Given the description of an element on the screen output the (x, y) to click on. 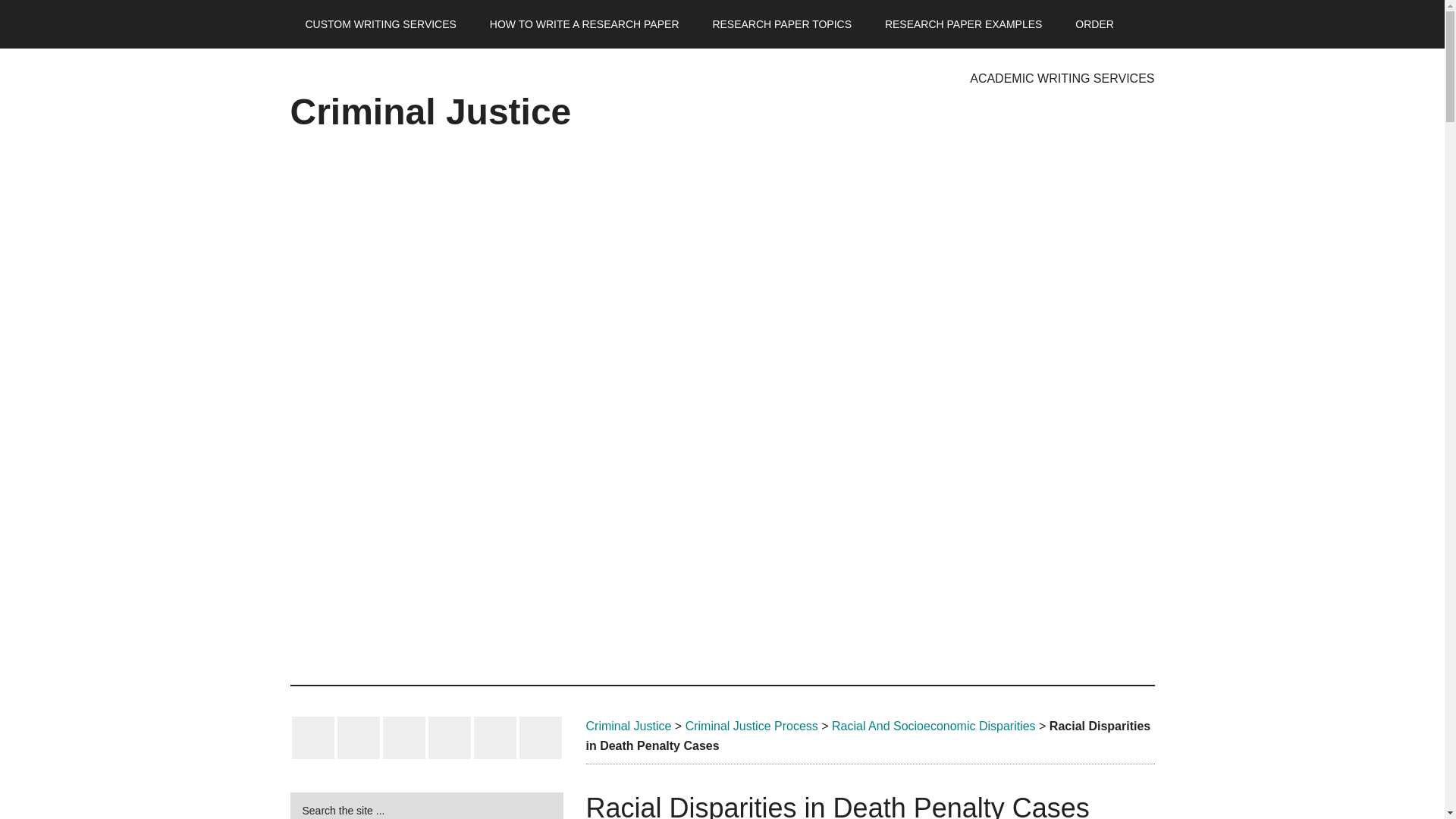
ORDER (1094, 24)
RESEARCH PAPER TOPICS (781, 24)
Criminal Justice (429, 111)
CUSTOM WRITING SERVICES (379, 24)
Criminal Justice (628, 725)
Racial And Socioeconomic Disparities (933, 725)
Criminal Justice Process (751, 725)
